Given the description of an element on the screen output the (x, y) to click on. 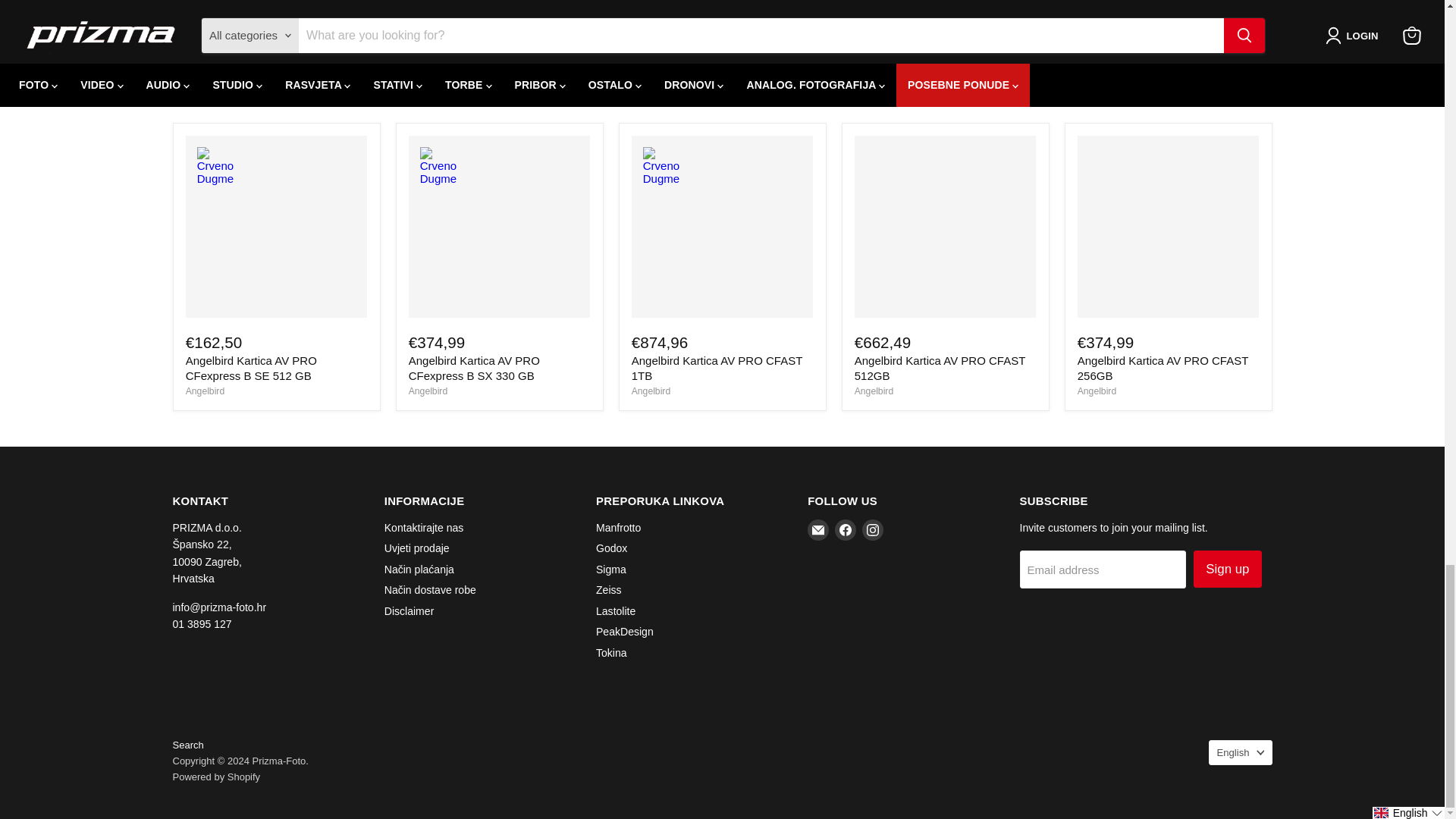
Angelbird (650, 390)
Angelbird (1096, 390)
Angelbird (205, 390)
Email (818, 529)
Instagram (872, 529)
Facebook (845, 529)
Angelbird (873, 390)
Angelbird (427, 390)
